Given the description of an element on the screen output the (x, y) to click on. 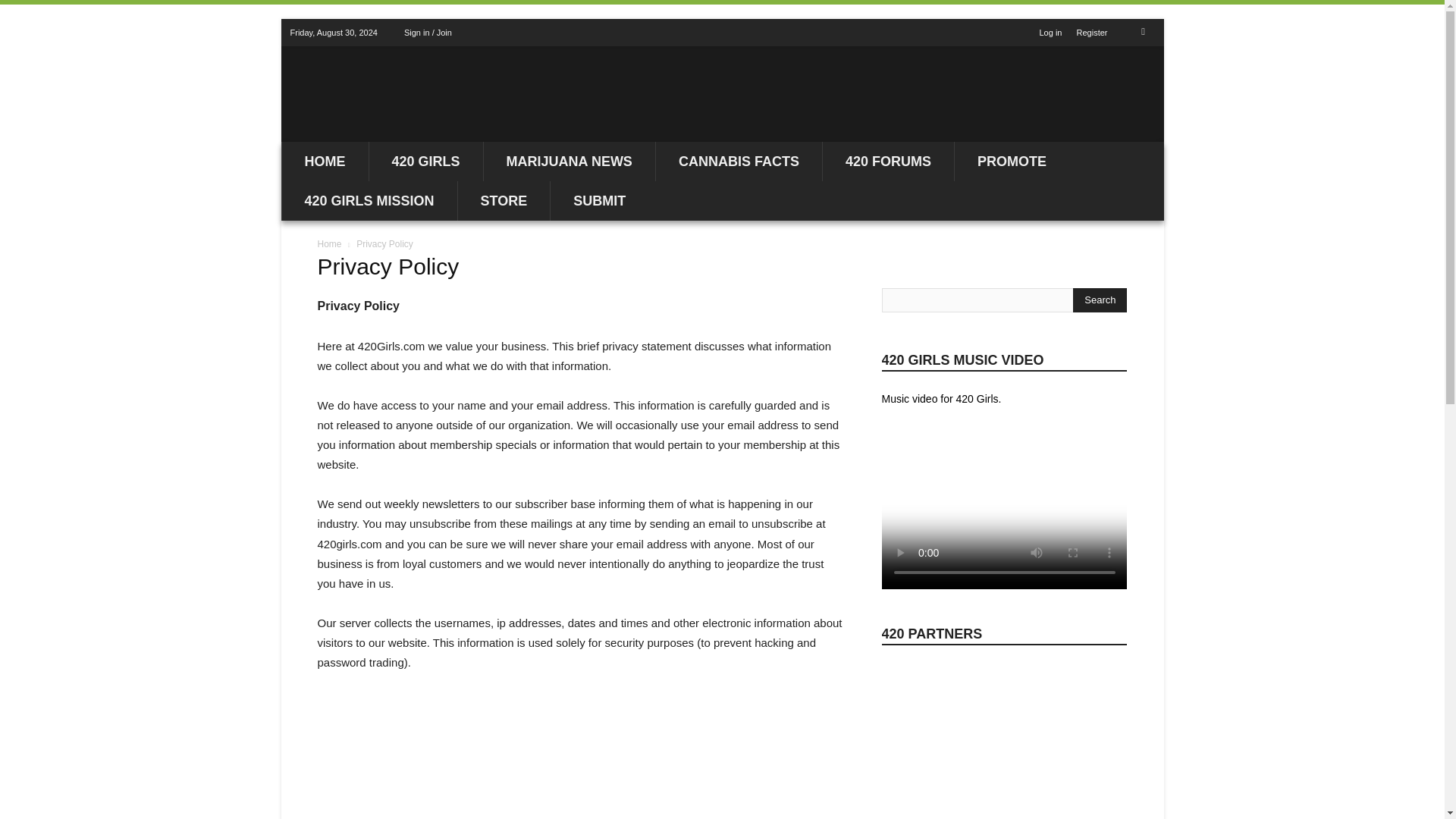
STORE (504, 200)
420 GIRLS MISSION (369, 200)
Search (1099, 300)
MARIJUANA NEWS (569, 160)
HOME (325, 160)
Search (1099, 300)
Log in (1050, 31)
PROMOTE (1011, 160)
420 FORUMS (887, 160)
Register (1092, 31)
